Given the description of an element on the screen output the (x, y) to click on. 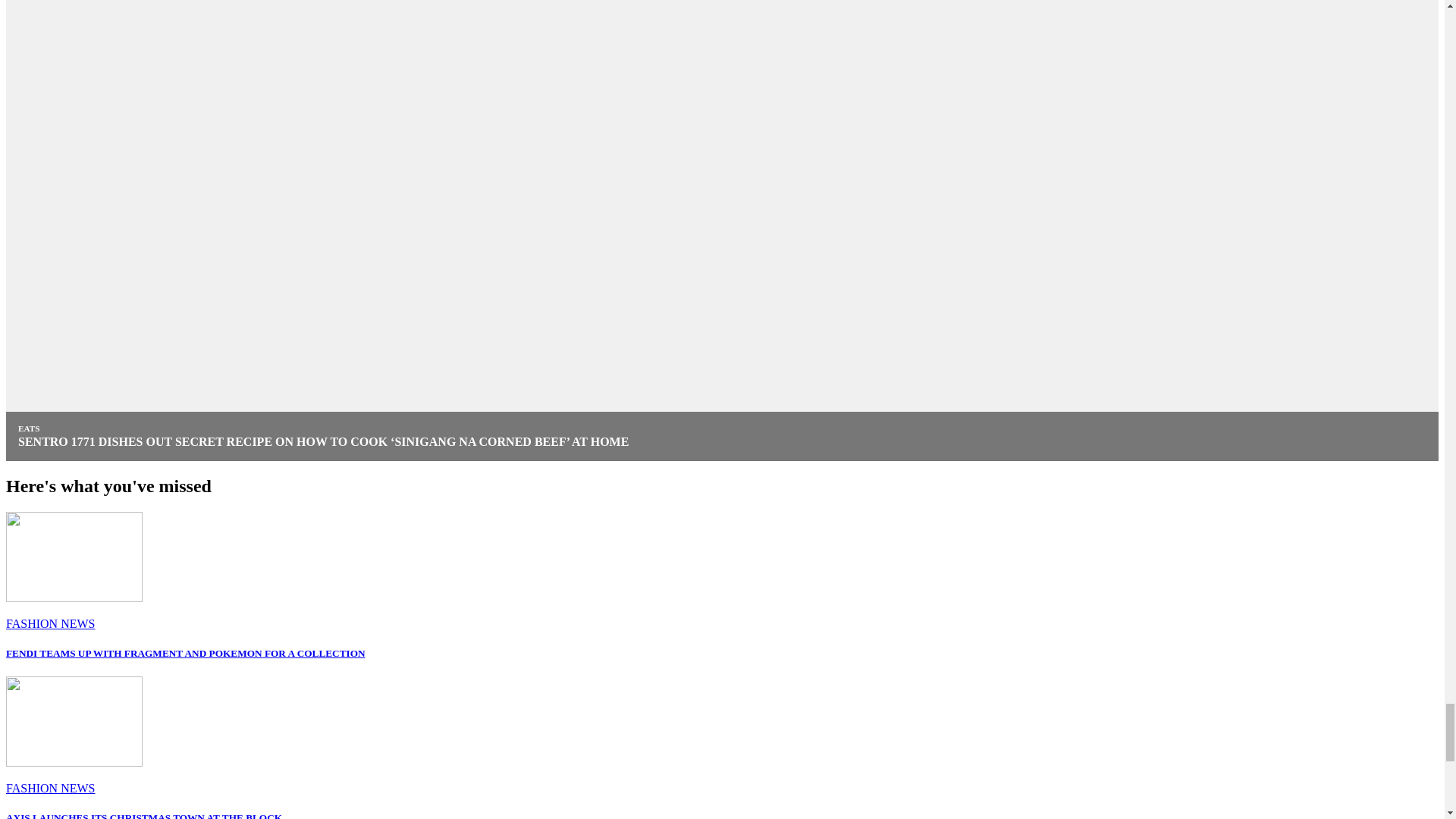
AXIS LAUNCHES ITS CHRISTMAS TOWN AT THE BLOCK (143, 815)
FENDI TEAMS UP WITH FRAGMENT AND  POKEMON FOR A COLLECTION (185, 653)
